Given the description of an element on the screen output the (x, y) to click on. 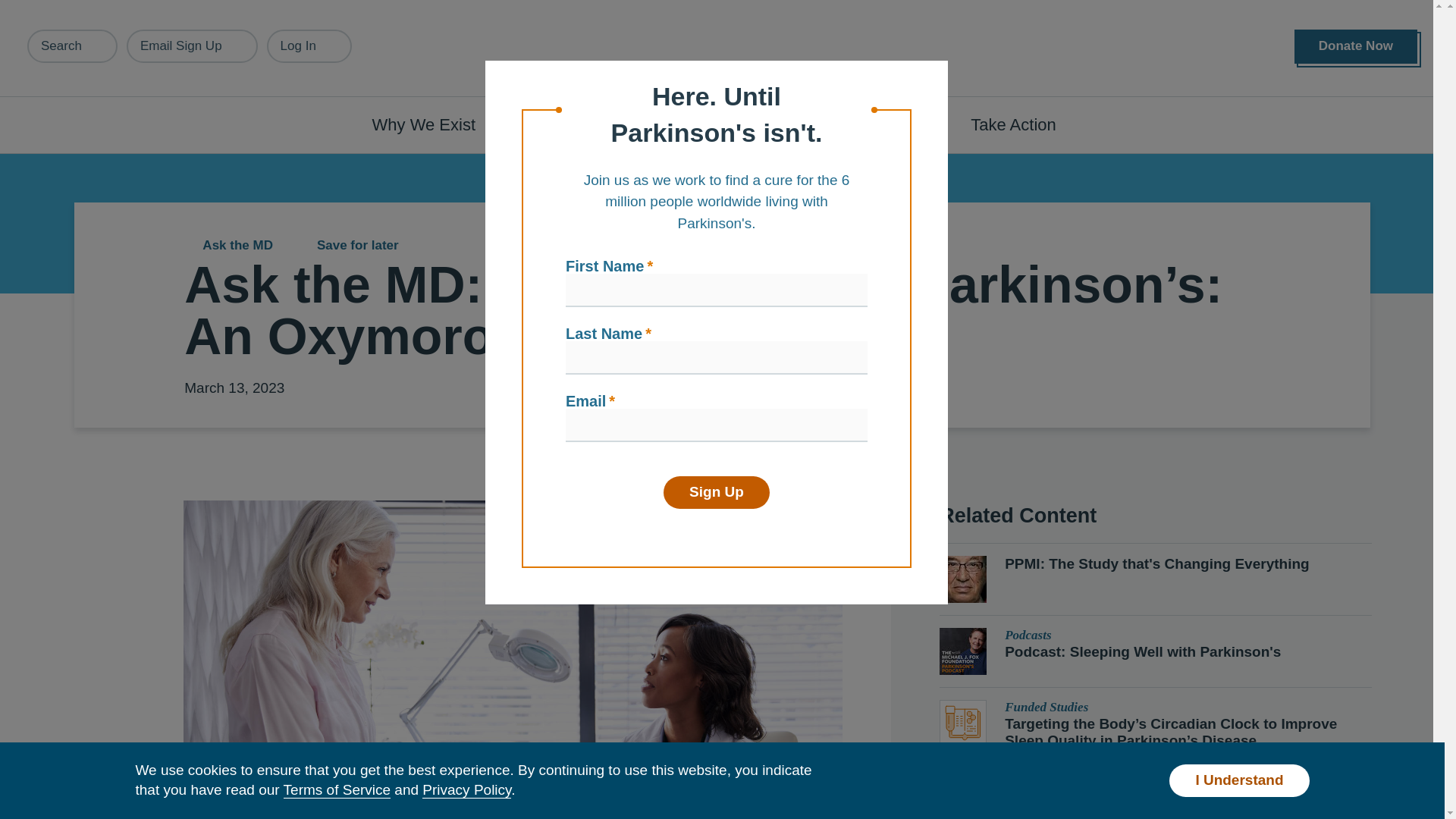
Skip to main content (96, 7)
Why We Exist (432, 125)
Understanding Parkinson's (640, 125)
Email Sign Up (191, 46)
Home Page (722, 48)
Search (72, 46)
Donate Now (1355, 46)
Log In (309, 46)
